Given the description of an element on the screen output the (x, y) to click on. 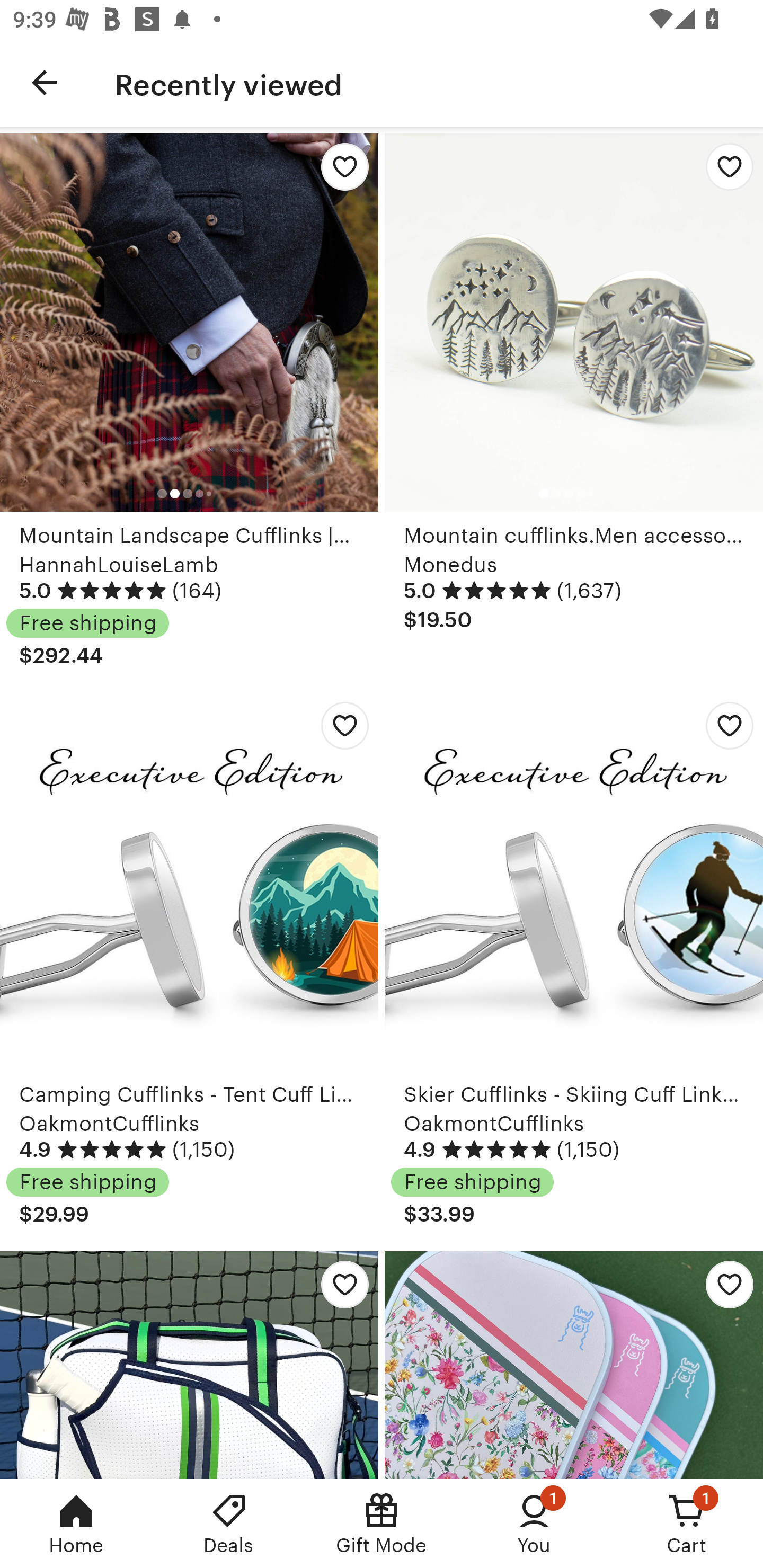
Navigate up (44, 82)
Add Flower Preppy Pickleball Paddle to favorites (724, 1289)
Deals (228, 1523)
Gift Mode (381, 1523)
You, 1 new notification You (533, 1523)
Cart, 1 new notification Cart (686, 1523)
